Given the description of an element on the screen output the (x, y) to click on. 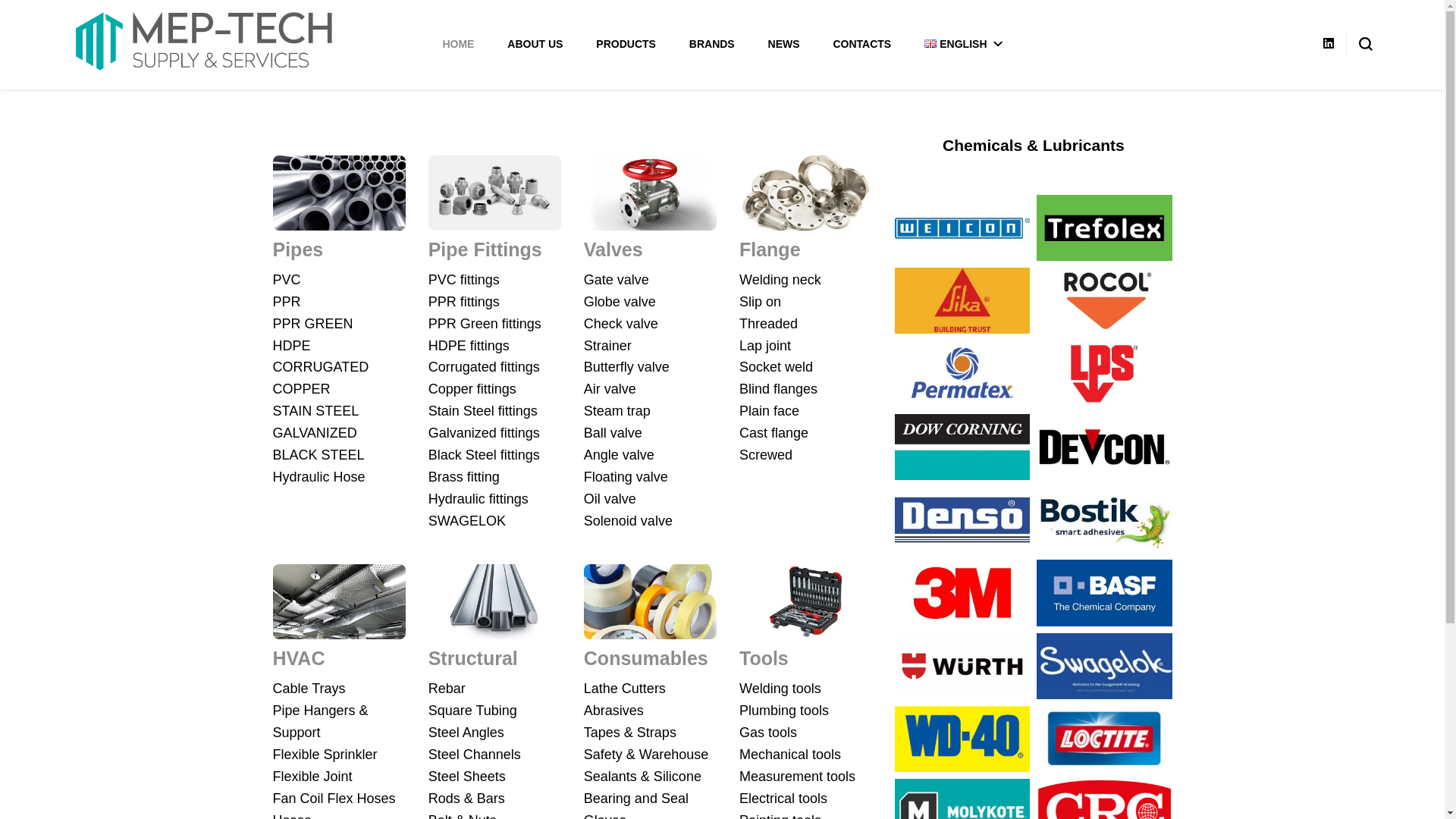
CONTACTS Element type: text (861, 43)
Consumables Element type: text (645, 657)
BRANDS Element type: text (711, 43)
HOME Element type: text (457, 43)
MEP-TECH Element type: text (143, 93)
Structural Element type: text (472, 657)
NEWS Element type: text (784, 43)
ABOUT US Element type: text (534, 43)
PRODUCTS Element type: text (625, 43)
ENGLISH Element type: text (962, 43)
Flange Element type: text (769, 249)
HVAC Element type: text (299, 657)
Valves Element type: text (613, 249)
Tools Element type: text (763, 657)
Pipe Fittings Element type: text (485, 249)
Pipes Element type: text (298, 249)
